Given the description of an element on the screen output the (x, y) to click on. 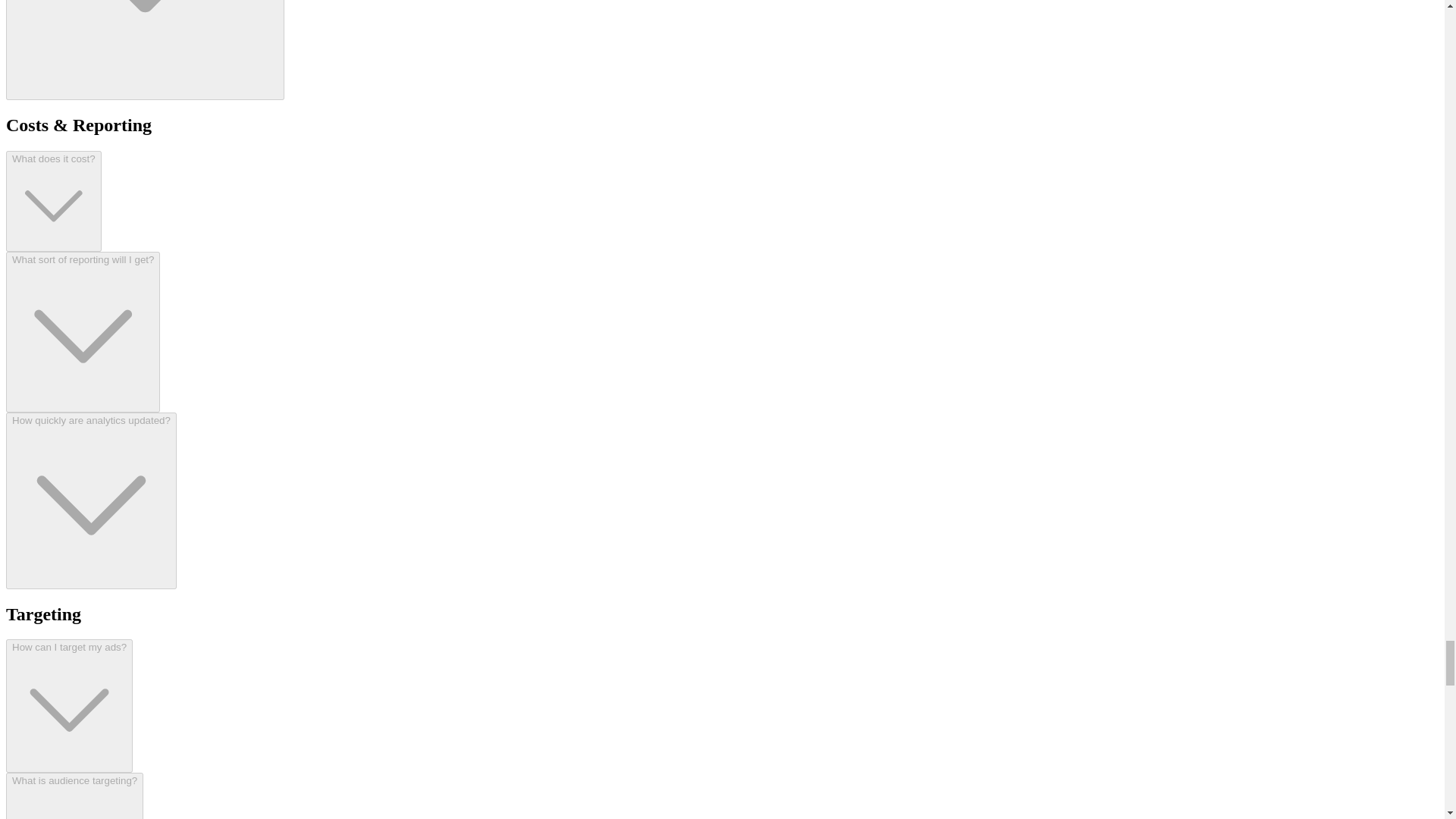
We make our own ads in-house. Can we still use AdCritter? (144, 49)
What is audience targeting? (73, 796)
How can I target my ads? (68, 705)
How quickly are analytics updated? (90, 500)
What does it cost? (53, 201)
What sort of reporting will I get? (82, 331)
